Given the description of an element on the screen output the (x, y) to click on. 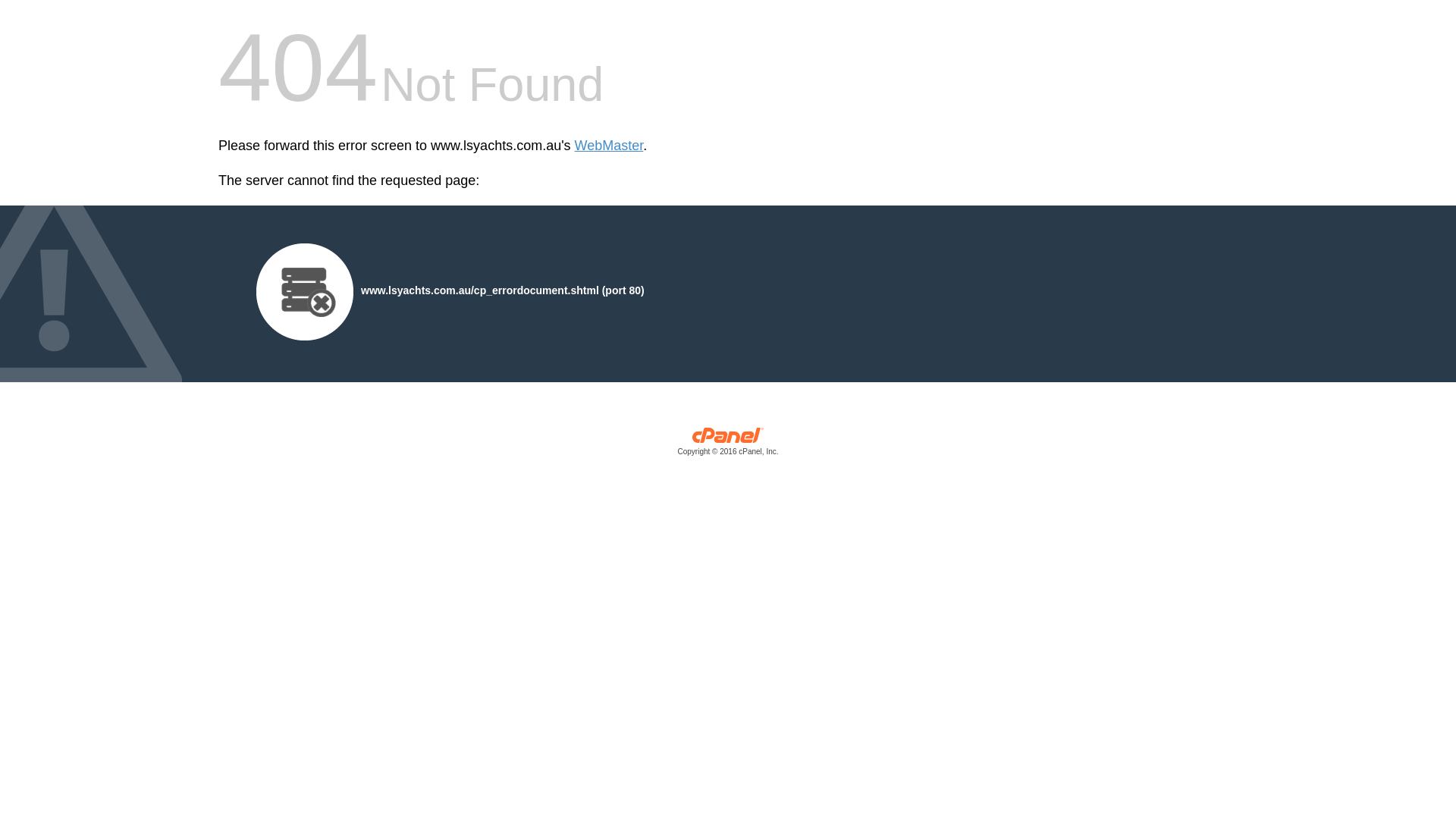
WebMaster Element type: text (608, 145)
